Given the description of an element on the screen output the (x, y) to click on. 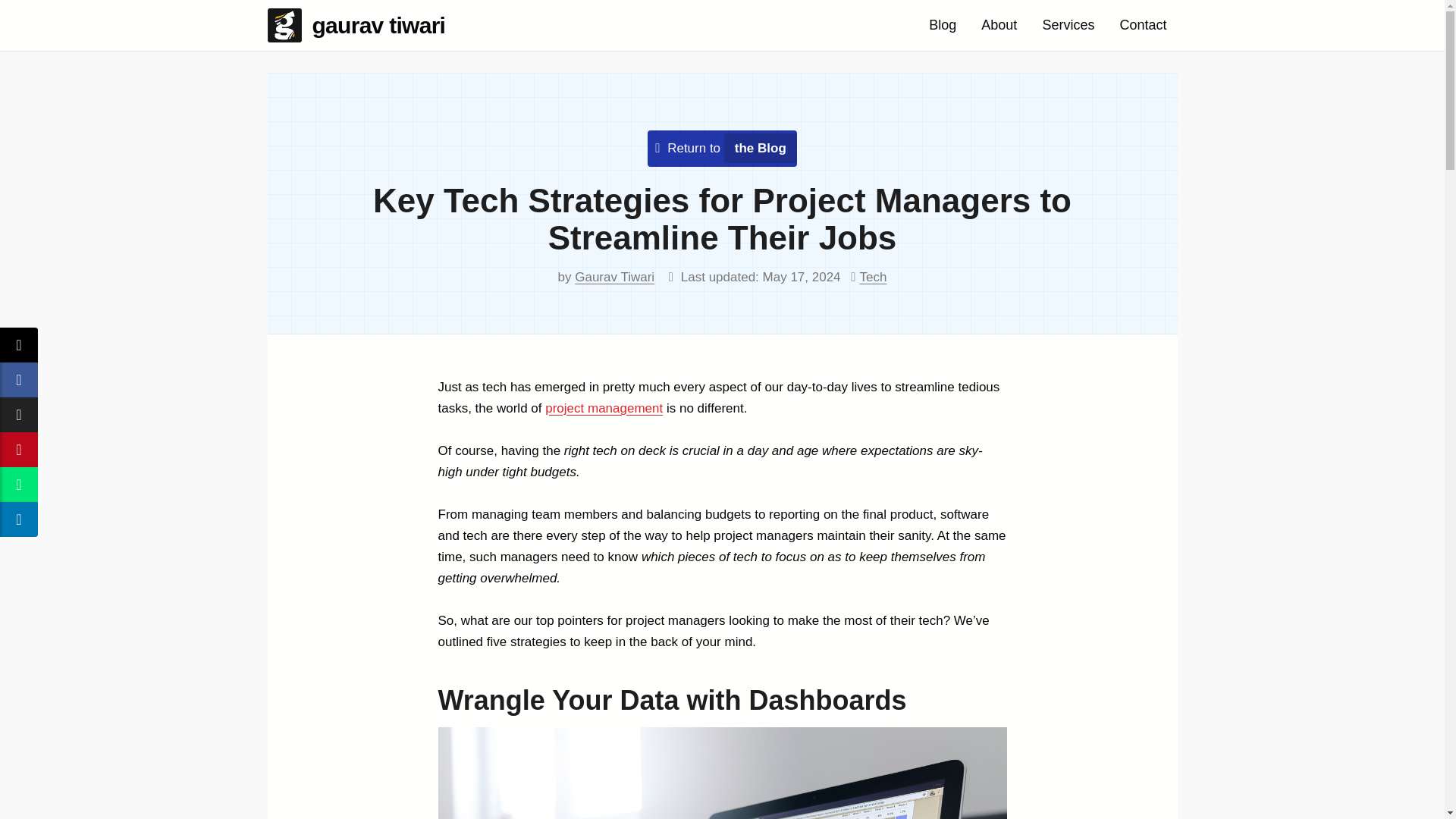
Services (1067, 25)
Contact (1142, 25)
project management (603, 408)
Return to the Blog (725, 147)
Blog (942, 25)
Tech (873, 277)
About (999, 25)
gaurav tiwari (360, 25)
